Given the description of an element on the screen output the (x, y) to click on. 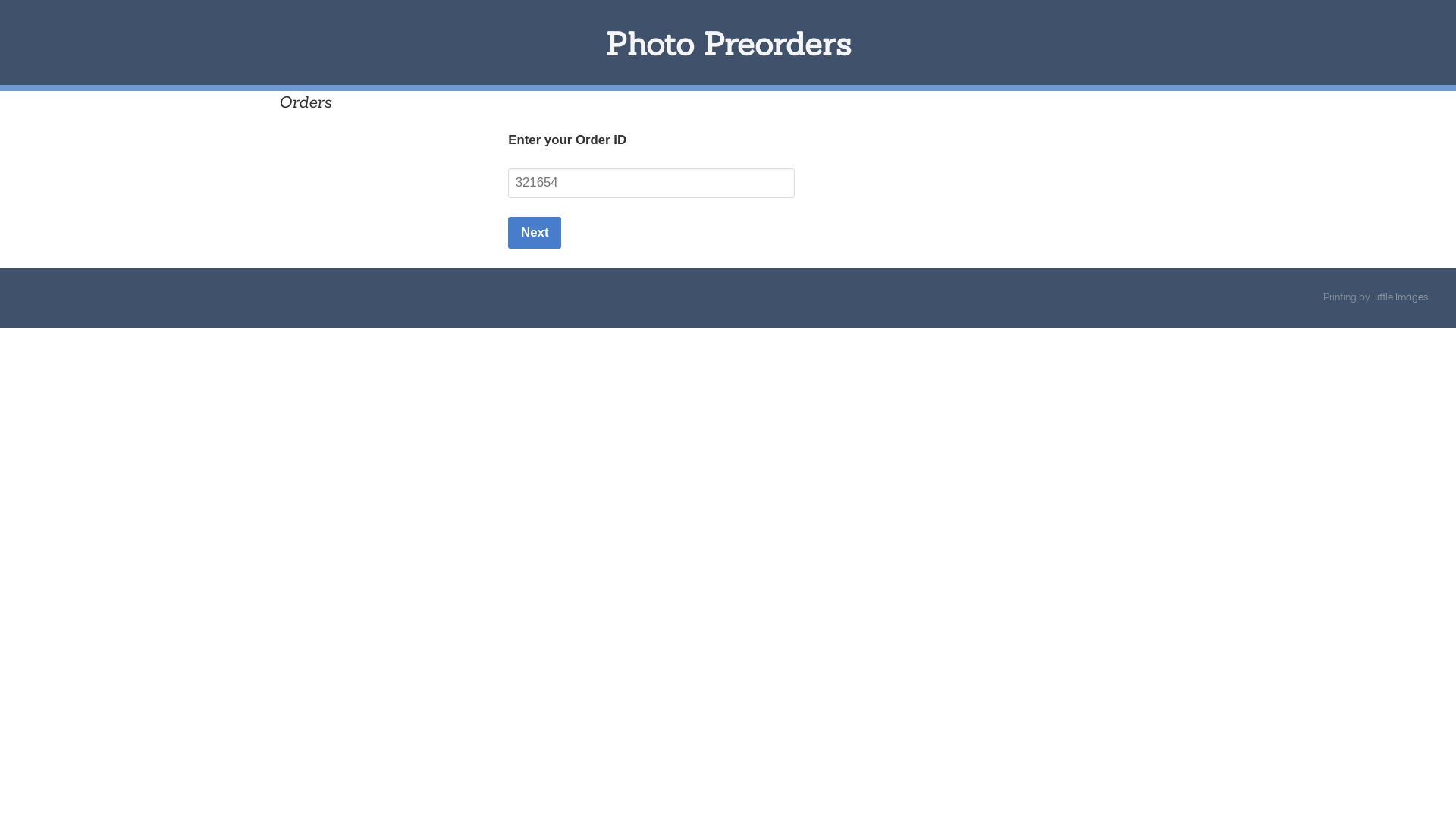
Little Images Element type: text (1399, 297)
Next Element type: text (534, 232)
